Given the description of an element on the screen output the (x, y) to click on. 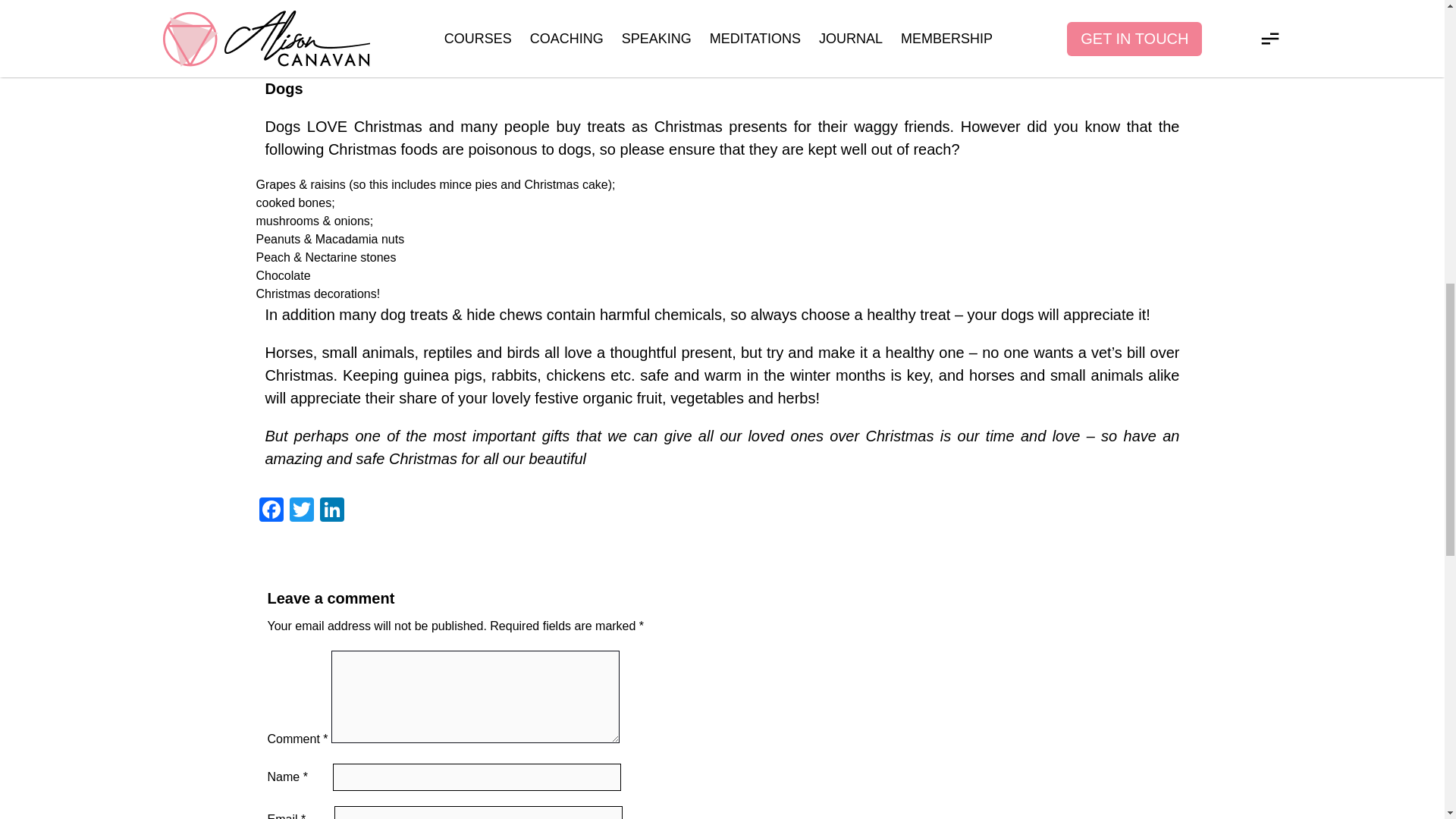
LinkedIn (332, 511)
Facebook (271, 511)
Twitter (301, 511)
Facebook (271, 511)
LinkedIn (332, 511)
Twitter (301, 511)
